Given the description of an element on the screen output the (x, y) to click on. 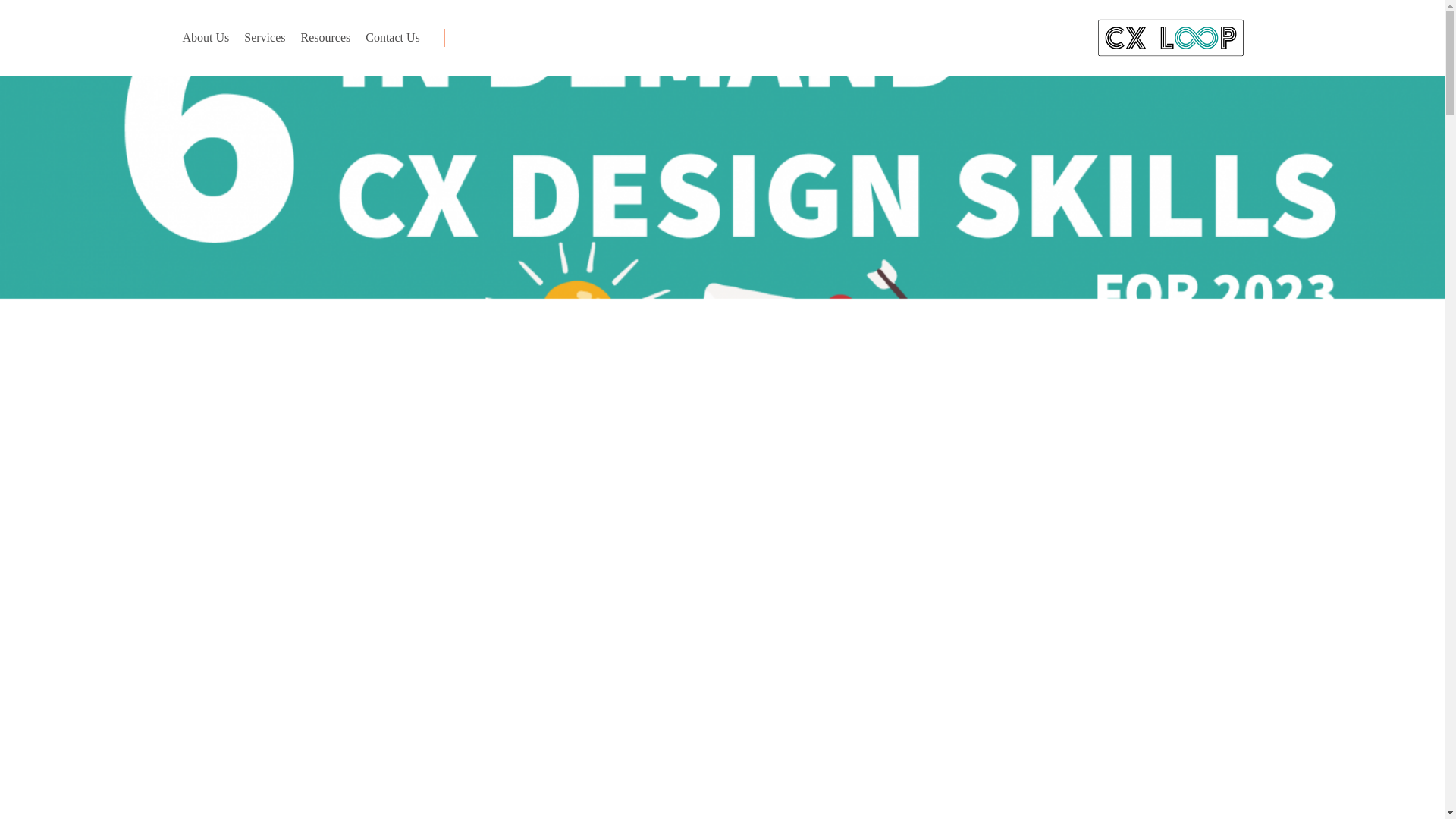
Services (264, 37)
About Us (205, 37)
Resources (324, 37)
Contact Us (392, 37)
